Given the description of an element on the screen output the (x, y) to click on. 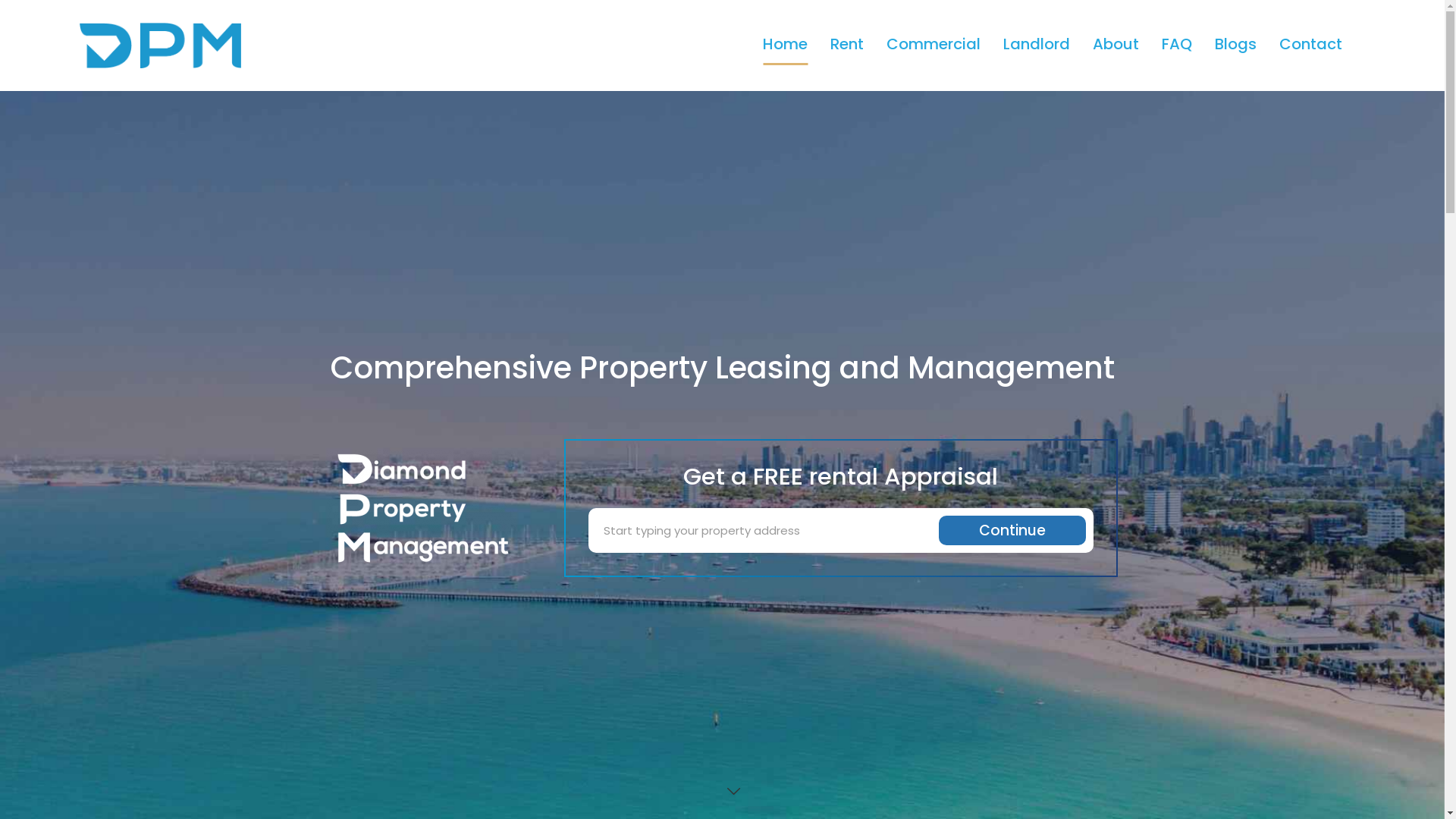
Landlord Element type: text (1036, 45)
About Element type: text (1115, 45)
Rent Element type: text (846, 45)
Diamond Property Management Element type: hover (131, 44)
Blogs Element type: text (1235, 45)
Contact Element type: text (1310, 45)
Start typing your property address Element type: text (767, 530)
FAQ Element type: text (1176, 45)
Commercial Element type: text (933, 45)
Continue Element type: text (1011, 530)
Home Element type: text (784, 45)
